Given the description of an element on the screen output the (x, y) to click on. 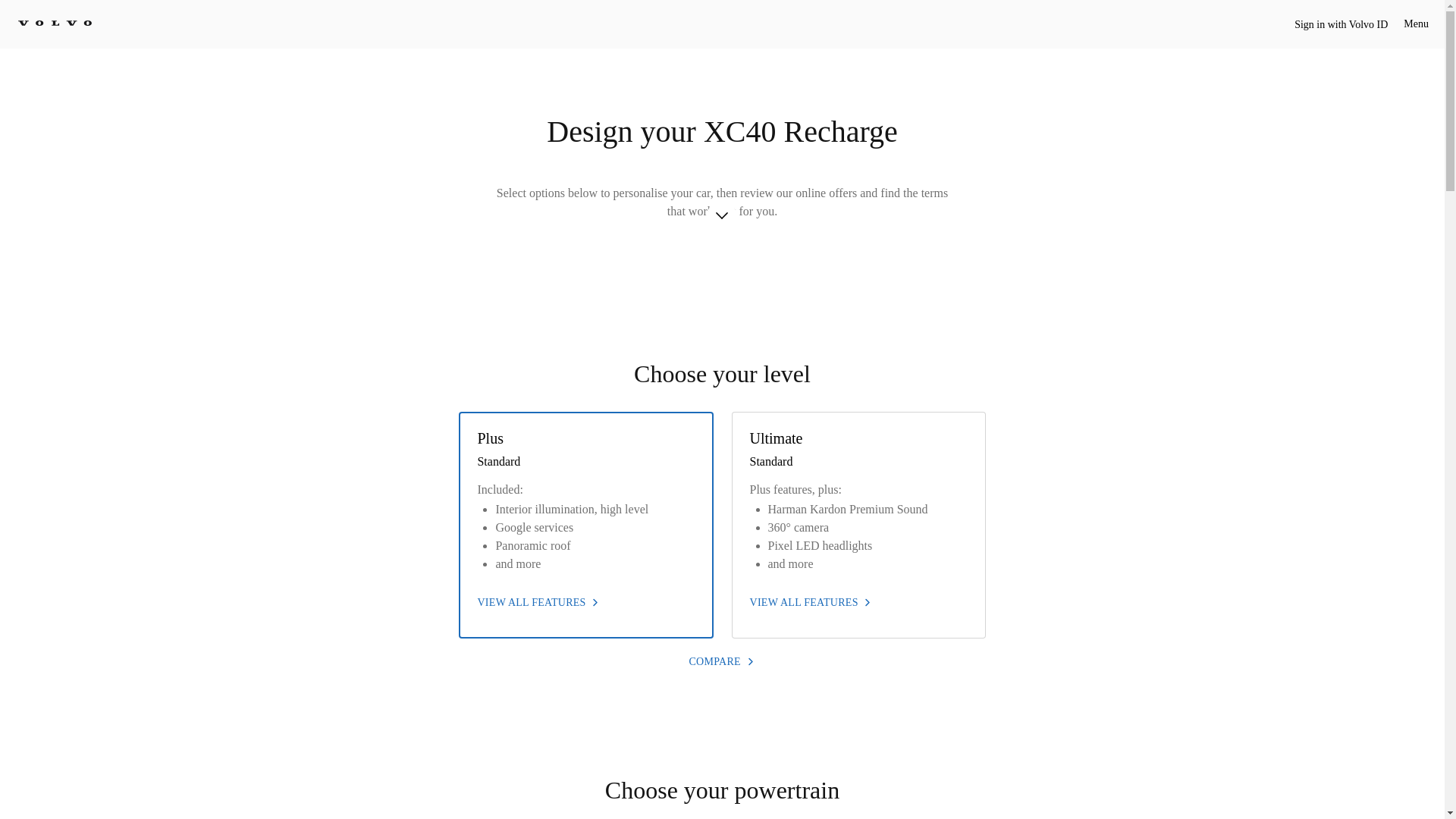
Sign in with Volvo ID (1340, 24)
Scroll to start (721, 224)
Commerce Cloud Storefront Reference Architecture Home (54, 22)
